Given the description of an element on the screen output the (x, y) to click on. 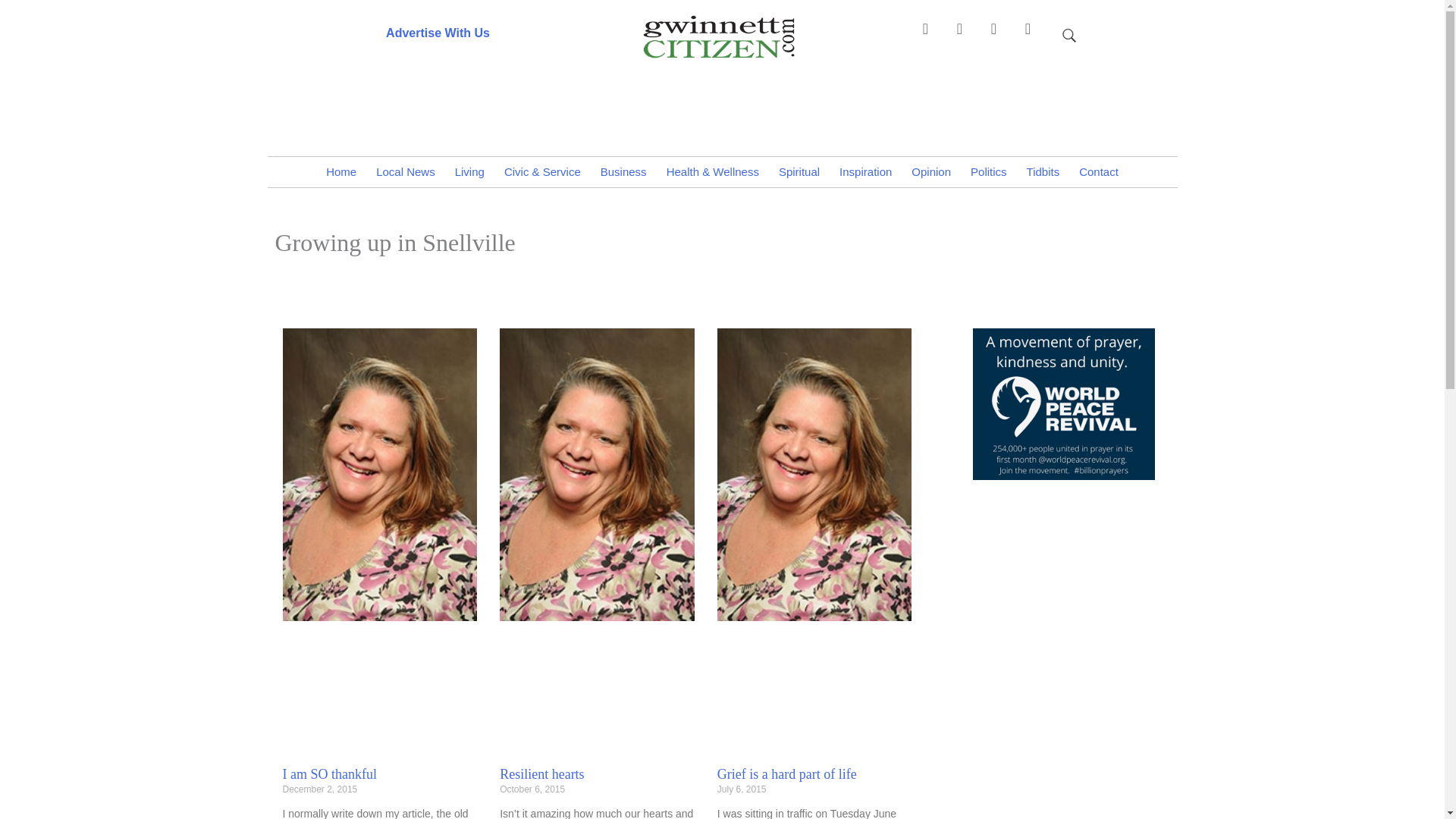
Advertise With Us (437, 32)
Facebook (932, 36)
Contact (1098, 172)
Twitter (1000, 36)
Politics (988, 172)
Local News (405, 172)
Living (470, 172)
Pinterest (966, 36)
Tidbits (1043, 172)
Business (623, 172)
Youtube (1034, 36)
Spiritual (798, 172)
Opinion (930, 172)
Inspiration (865, 172)
Home (340, 172)
